Given the description of an element on the screen output the (x, y) to click on. 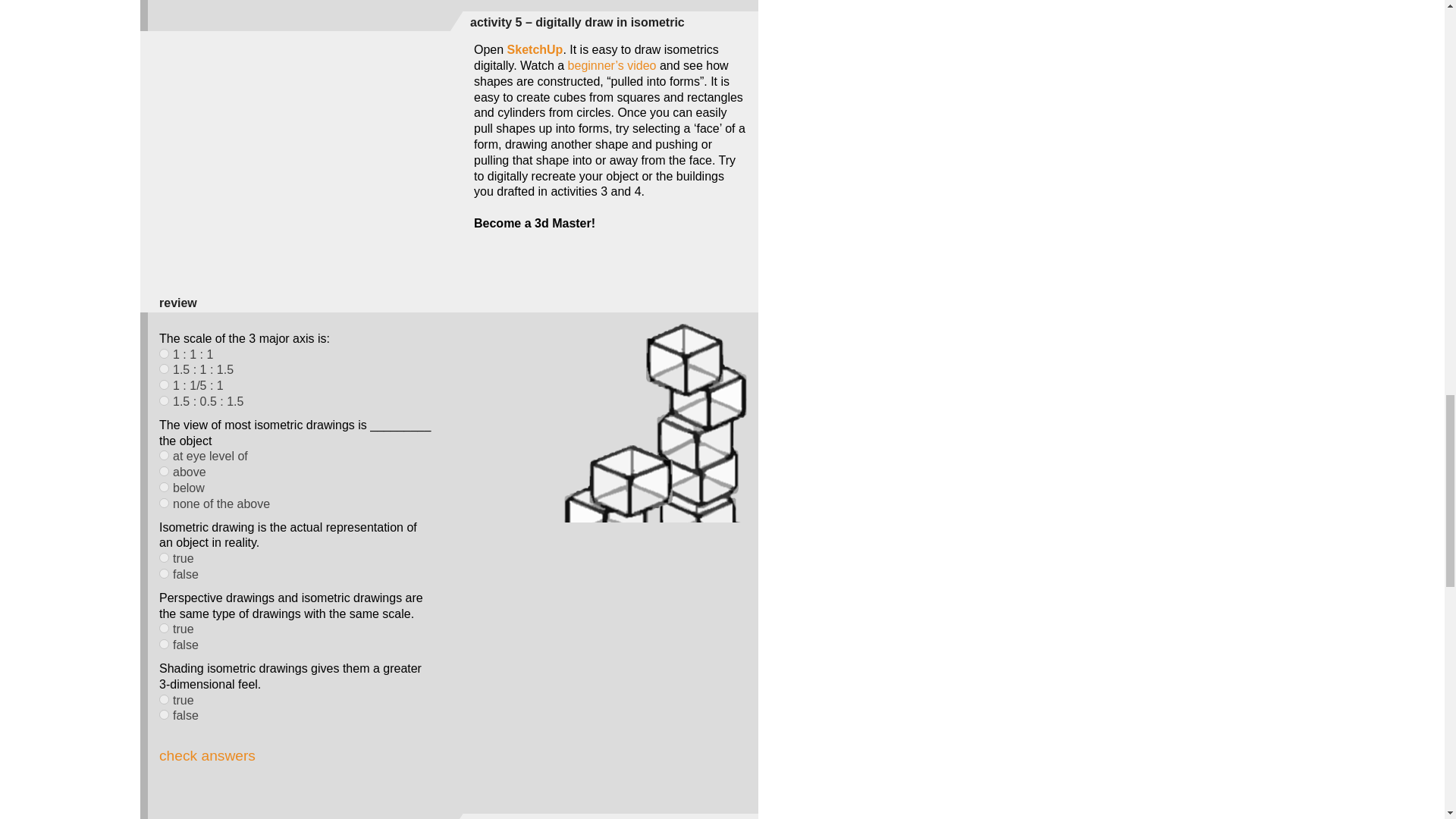
616 (163, 557)
608 (163, 353)
611 (163, 400)
620 (163, 699)
618 (163, 628)
617 (163, 573)
615 (163, 502)
621 (163, 714)
613 (163, 470)
609 (163, 368)
